Given the description of an element on the screen output the (x, y) to click on. 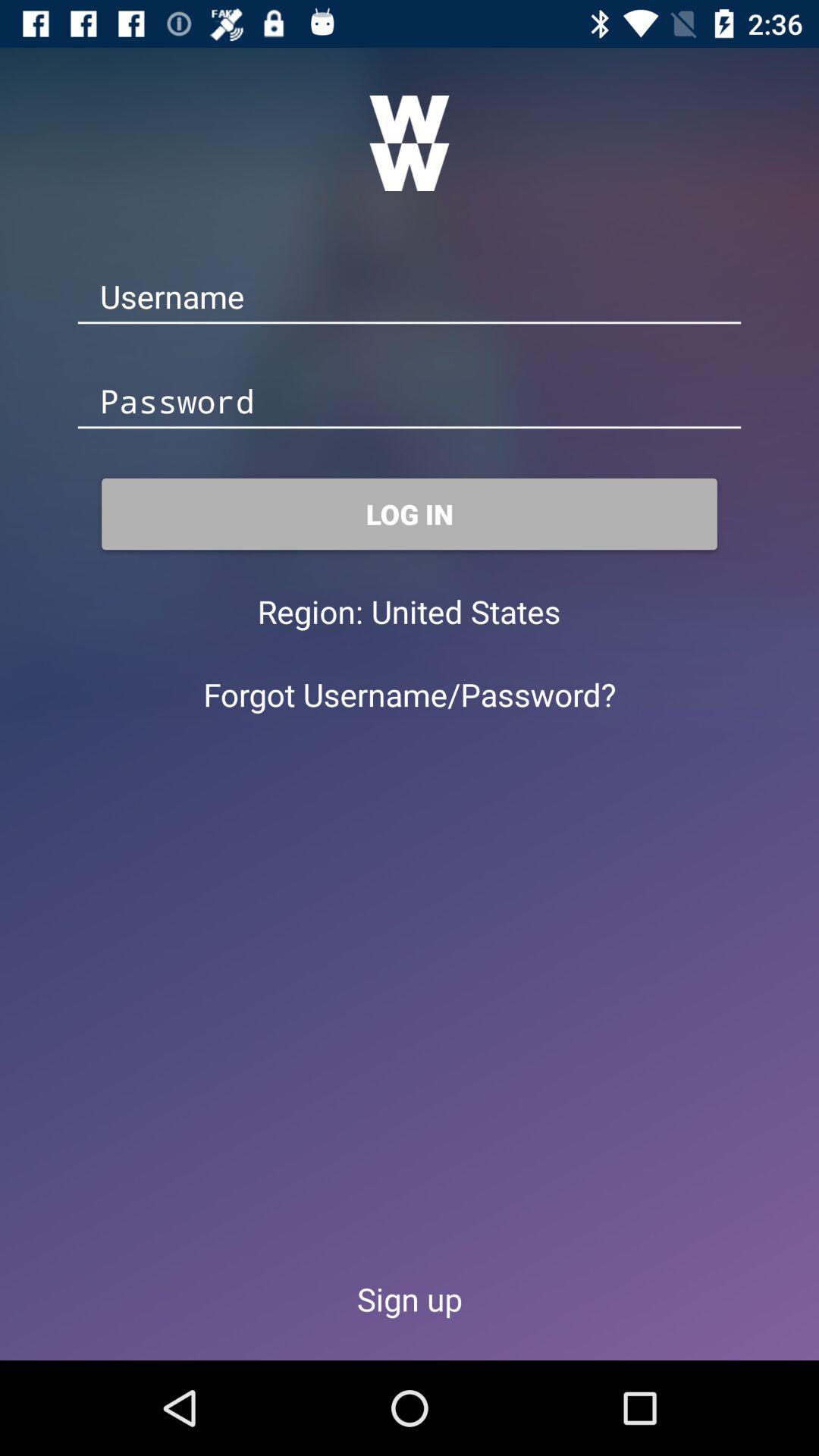
turn on the icon next to the region:  item (465, 611)
